Given the description of an element on the screen output the (x, y) to click on. 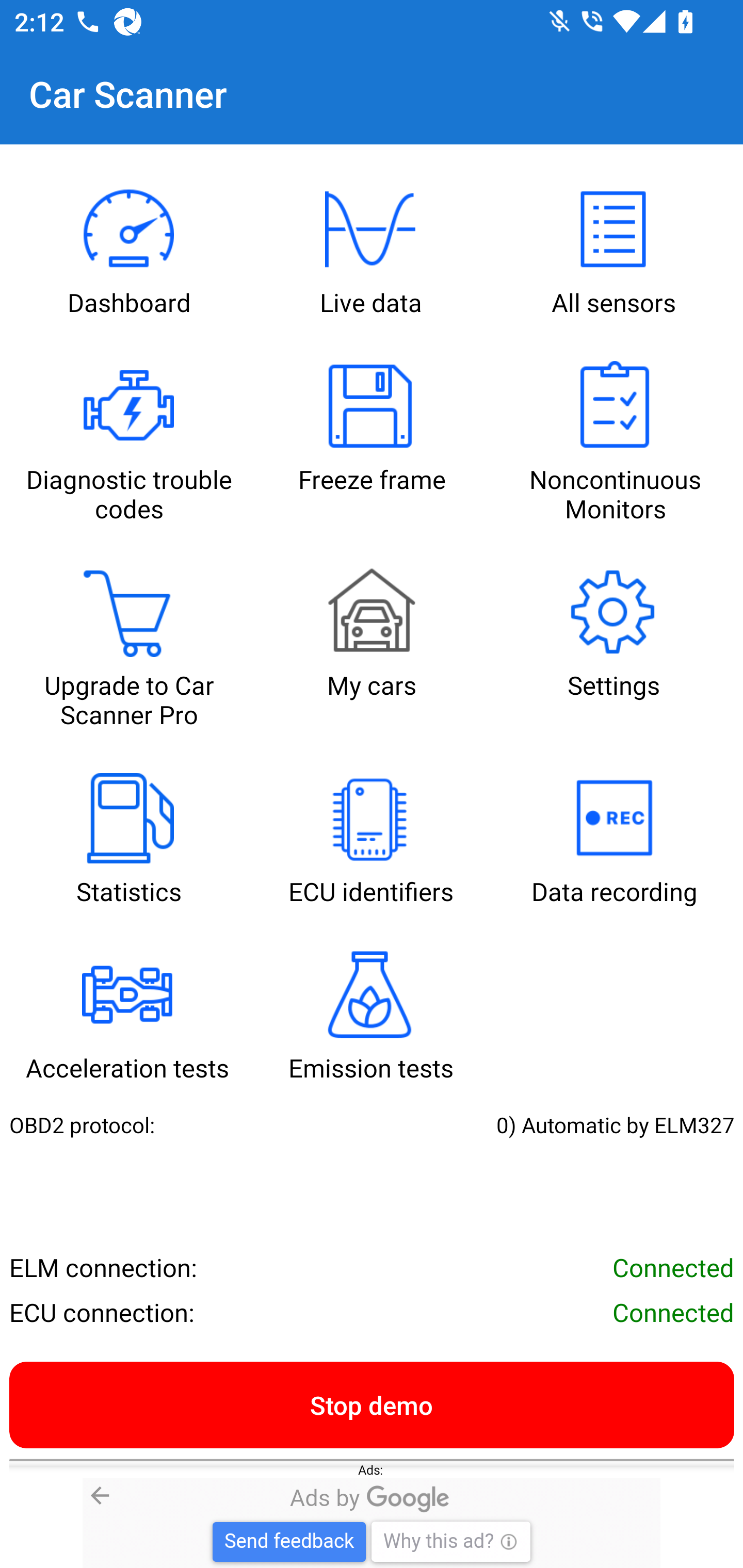
Stop demo (371, 1404)
